Given the description of an element on the screen output the (x, y) to click on. 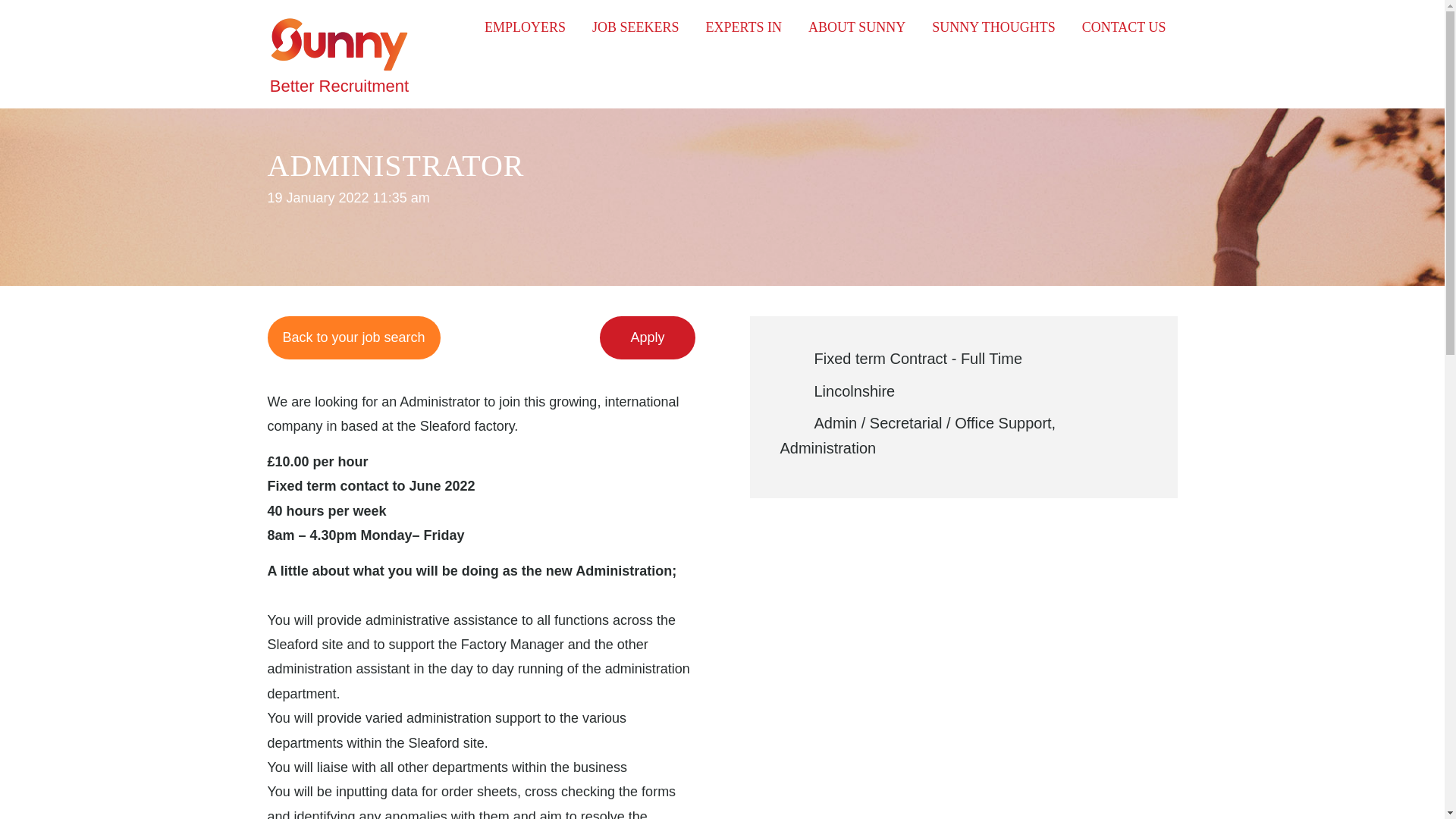
ABOUT SUNNY (856, 26)
Lincolnshire (854, 391)
Administration (827, 447)
SUNNY THOUGHTS (993, 26)
CONTACT US (1123, 26)
Fixed term Contract - Full Time (918, 358)
EXPERTS IN (338, 44)
EMPLOYERS (743, 26)
Back to your job search (524, 26)
